Given the description of an element on the screen output the (x, y) to click on. 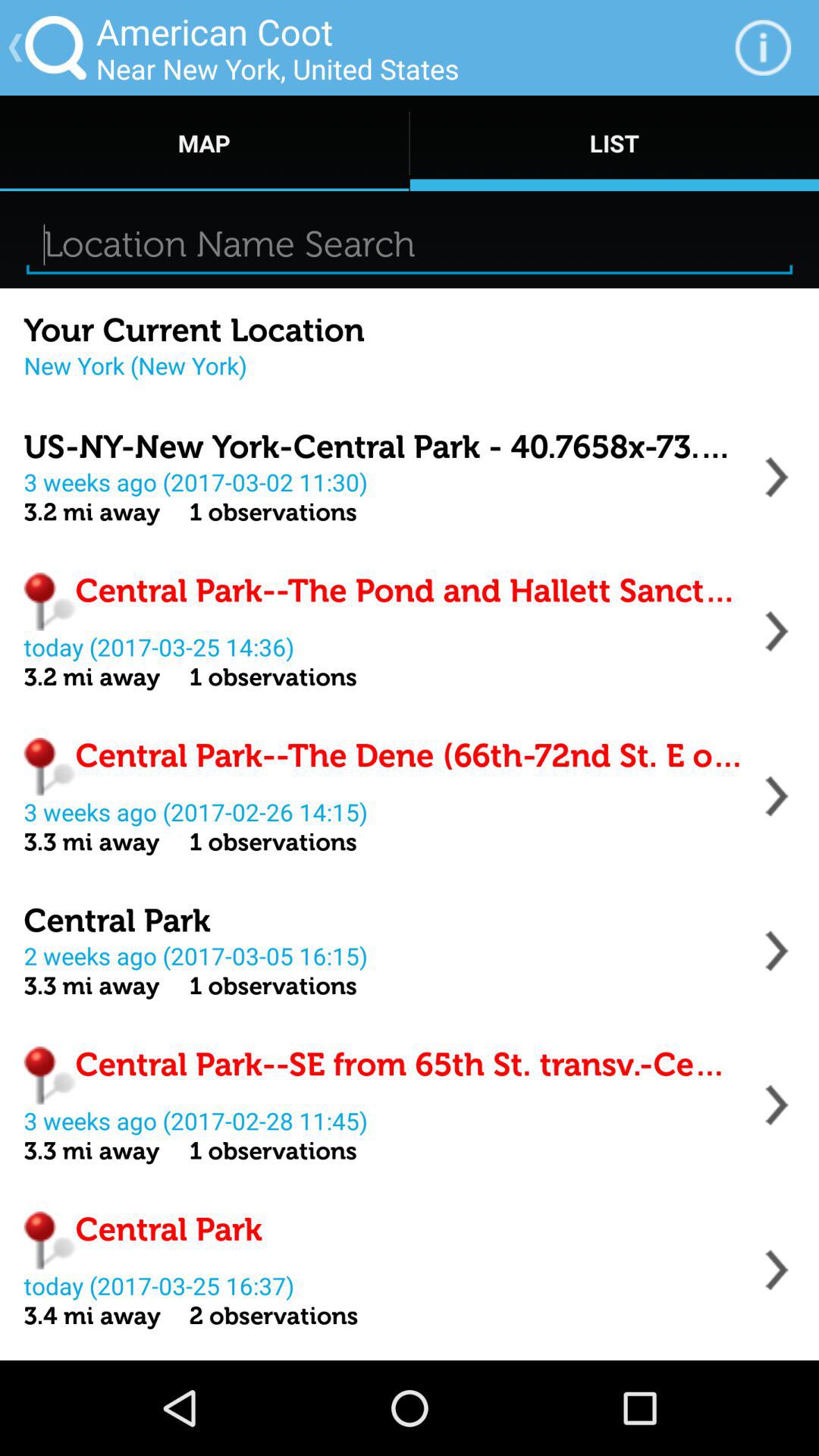
click on the third right arrow (776, 795)
click on the second arrow head option (776, 630)
select the text which says location name search (409, 244)
